Given the description of an element on the screen output the (x, y) to click on. 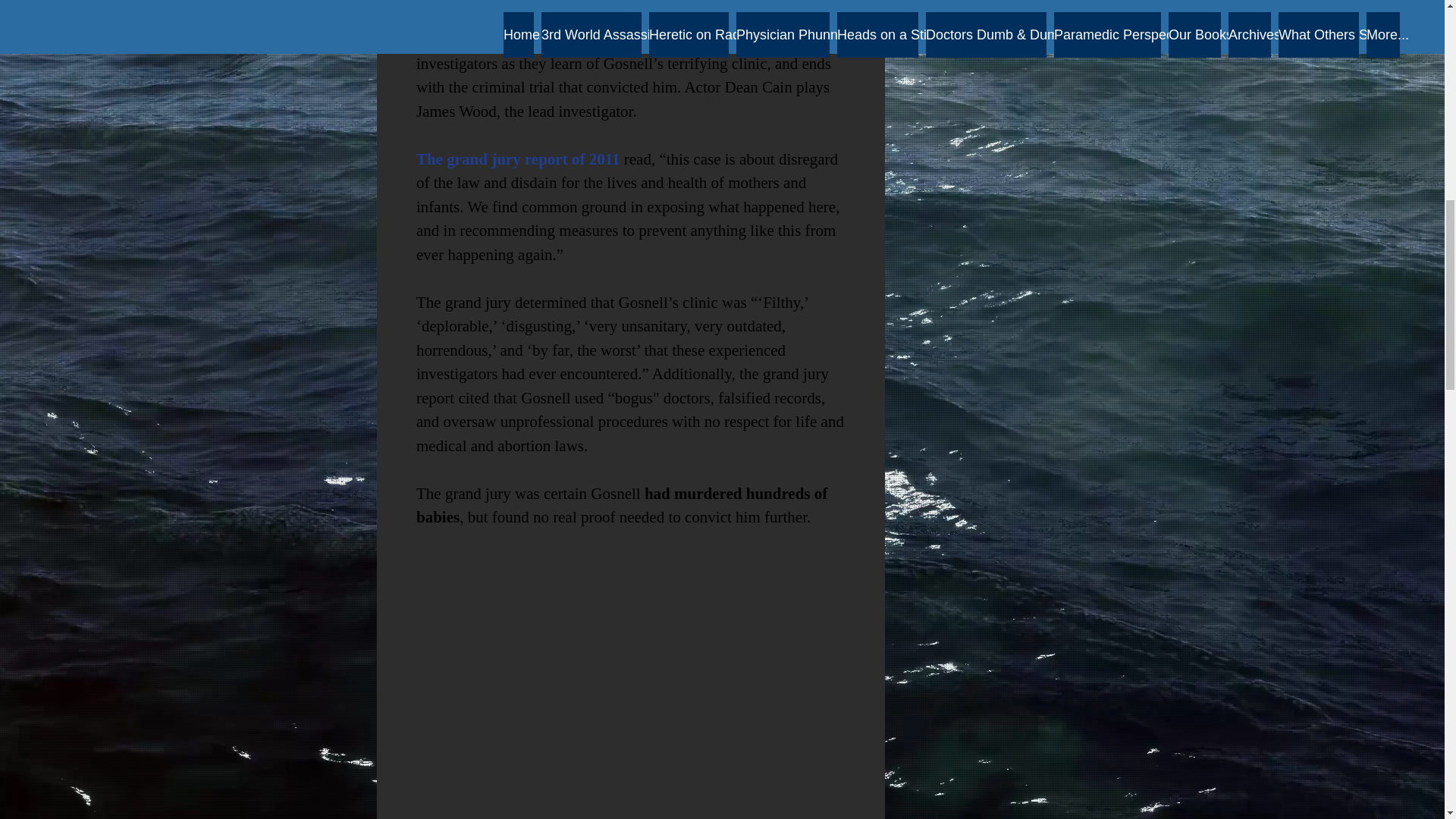
The grand jury report of 2011 (517, 158)
